Given the description of an element on the screen output the (x, y) to click on. 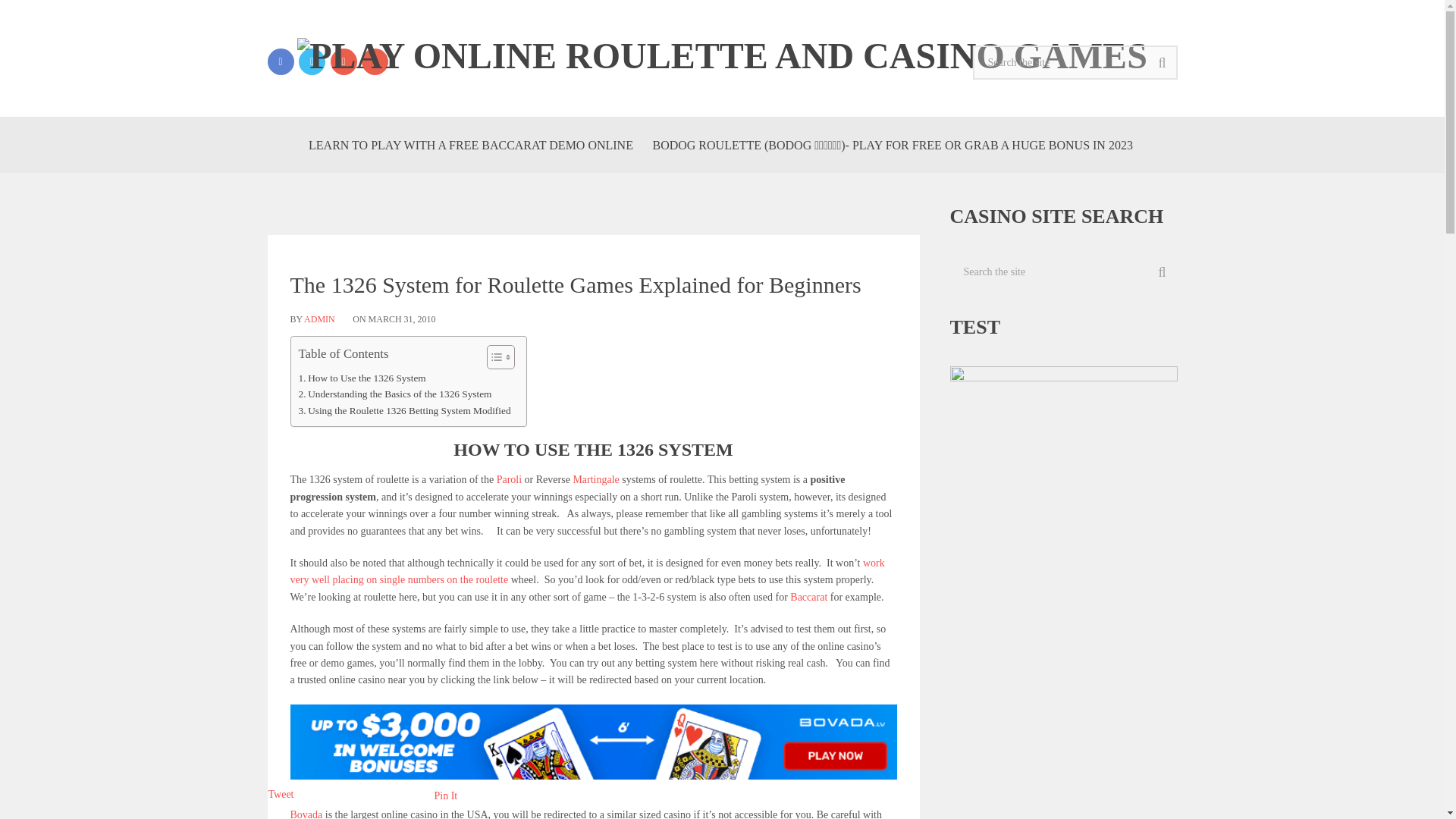
Understanding the Basics of the 1326 System (395, 393)
Martingale (595, 479)
Paroli (508, 479)
Pin It (445, 795)
Bovada (305, 814)
ADMIN (319, 318)
Tweet (280, 794)
LEARN TO PLAY WITH A FREE BACCARAT DEMO ONLINE (470, 144)
Baccarat (808, 596)
Understanding the Basics of the 1326 System (395, 393)
